Given the description of an element on the screen output the (x, y) to click on. 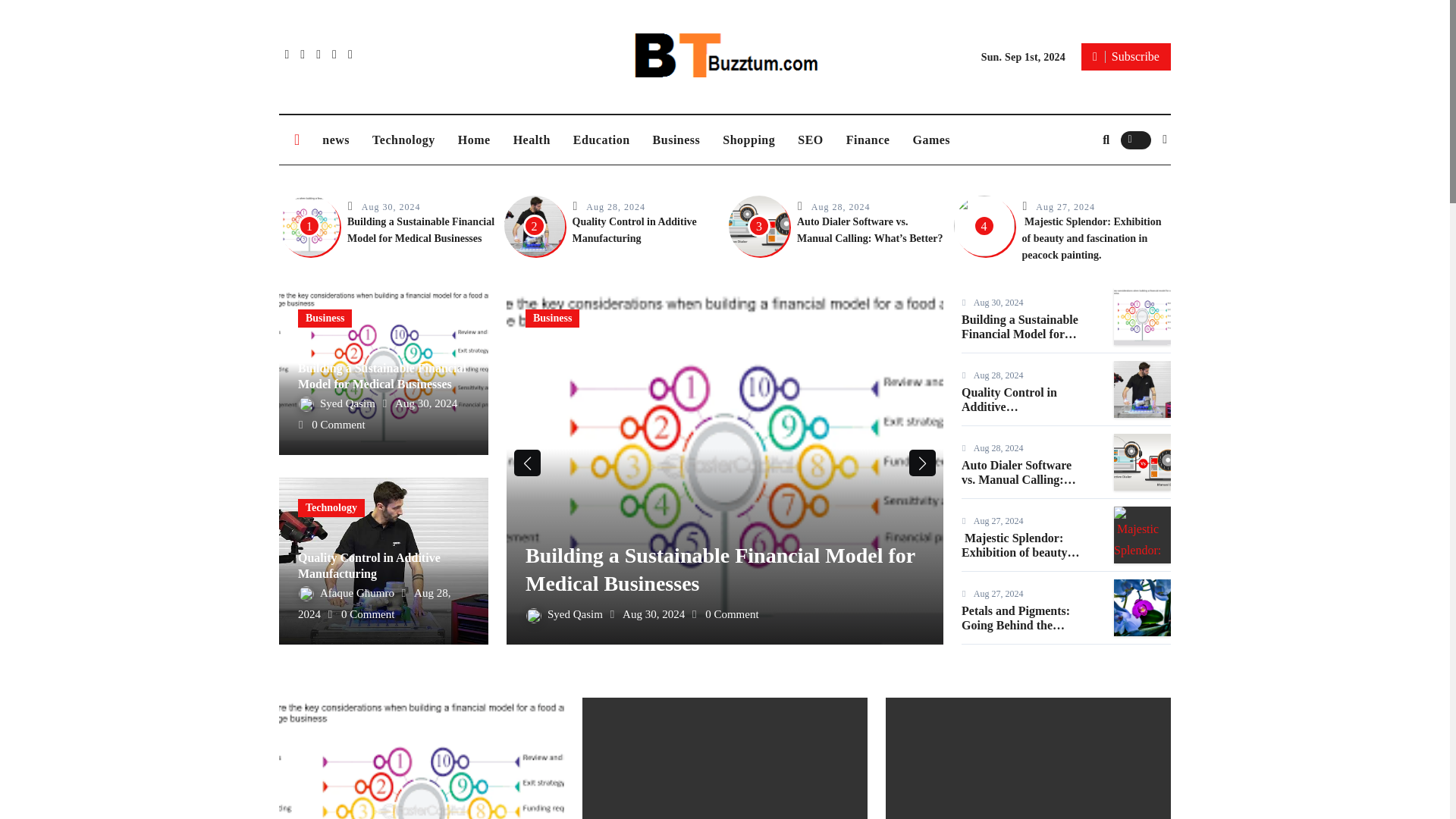
Subscribe (1125, 56)
Quality Control in Additive Manufacturing (633, 230)
Finance (867, 139)
Shopping (748, 139)
Home (474, 139)
news (336, 139)
Home (474, 139)
Aug 27, 2024 (1064, 206)
